Given the description of an element on the screen output the (x, y) to click on. 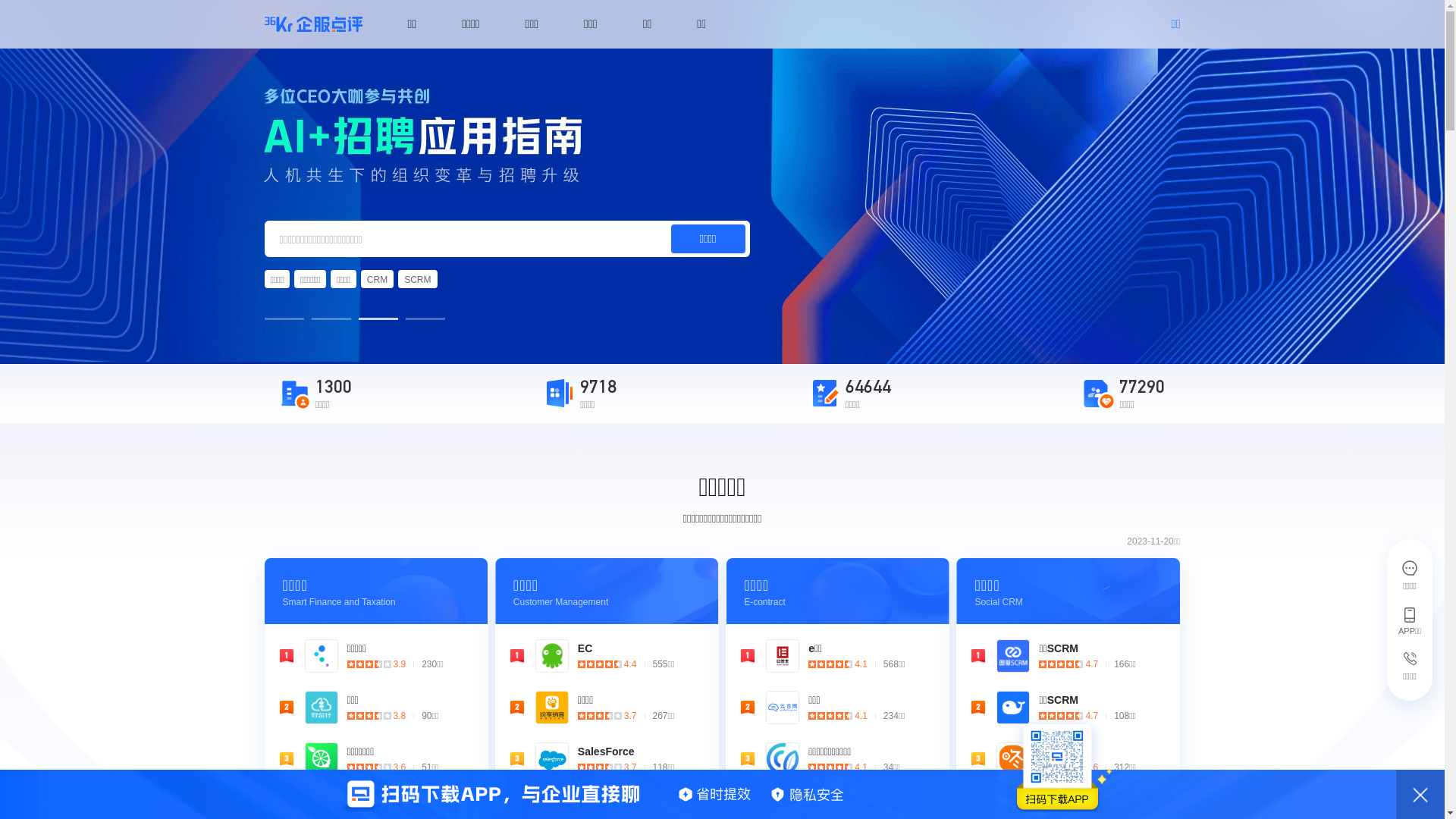
CRM Element type: text (376, 278)
SCRM Element type: text (417, 278)
